Given the description of an element on the screen output the (x, y) to click on. 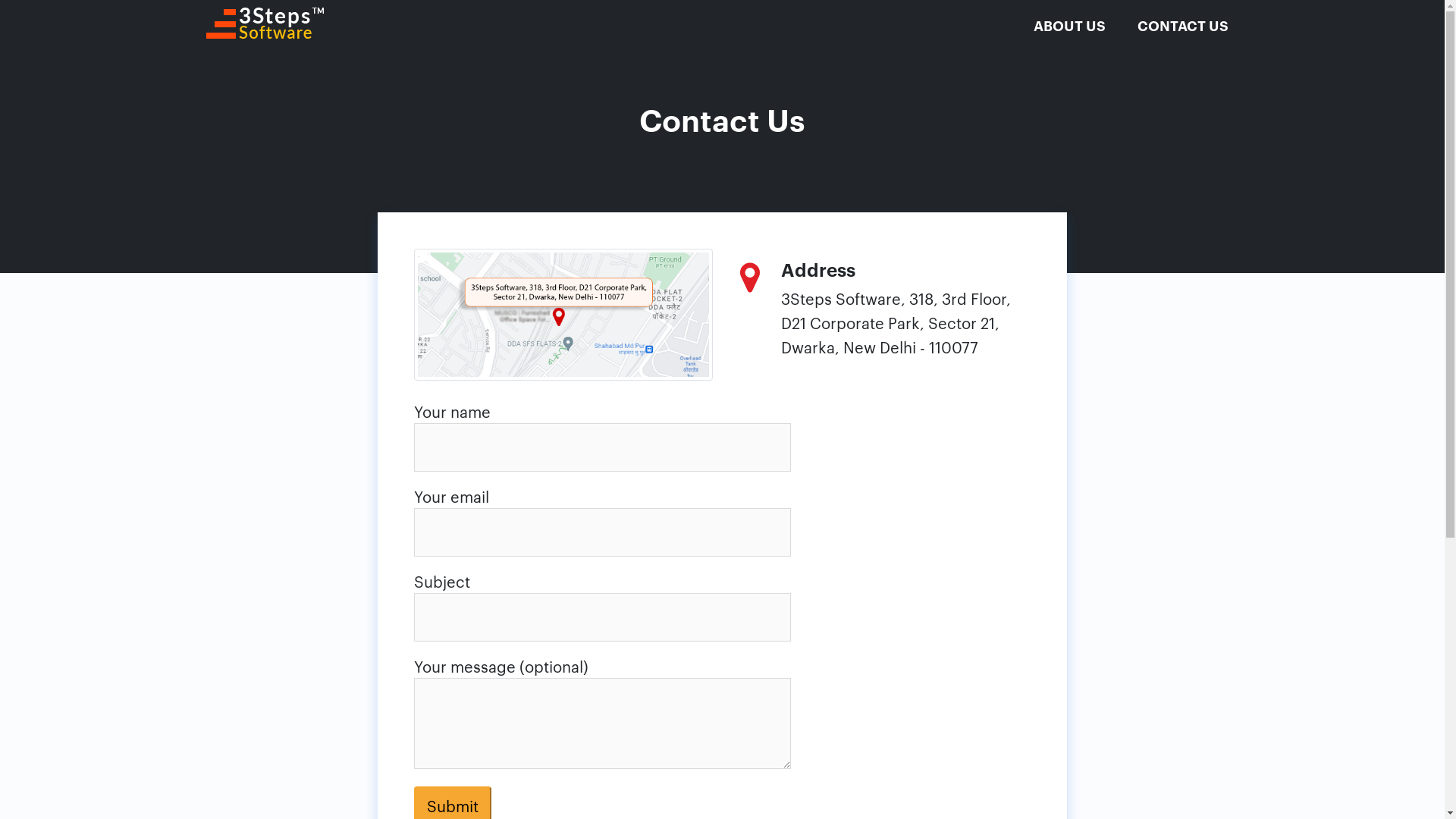
ABOUT US Element type: text (1068, 24)
CONTACT US Element type: text (1182, 24)
